Given the description of an element on the screen output the (x, y) to click on. 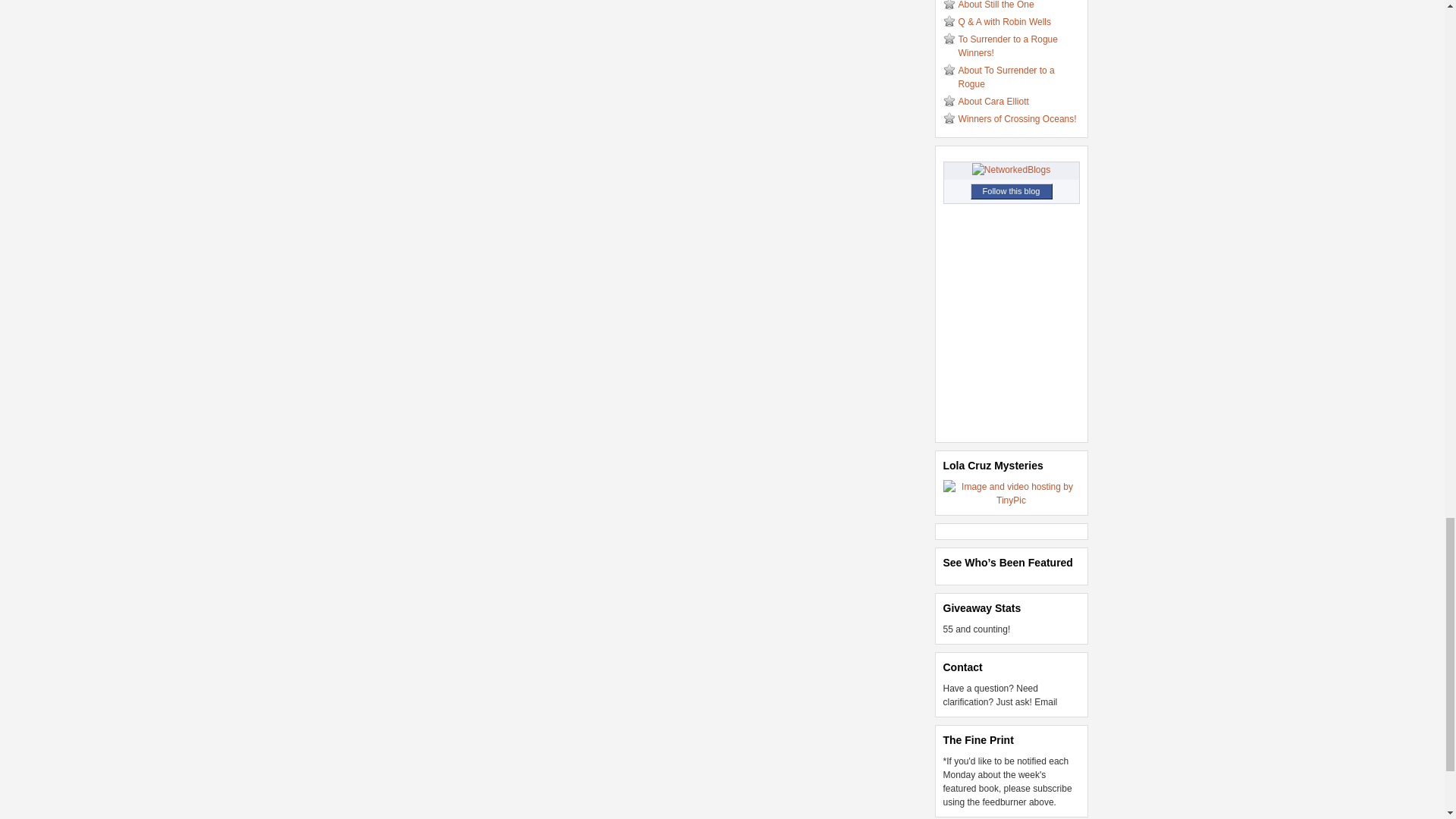
About To Surrender to a Rogue (1006, 77)
Winners of Crossing Oceans! (1017, 118)
To Surrender to a Rogue Winners! (1008, 46)
About Still the One (995, 4)
About Cara Elliott (993, 101)
